Given the description of an element on the screen output the (x, y) to click on. 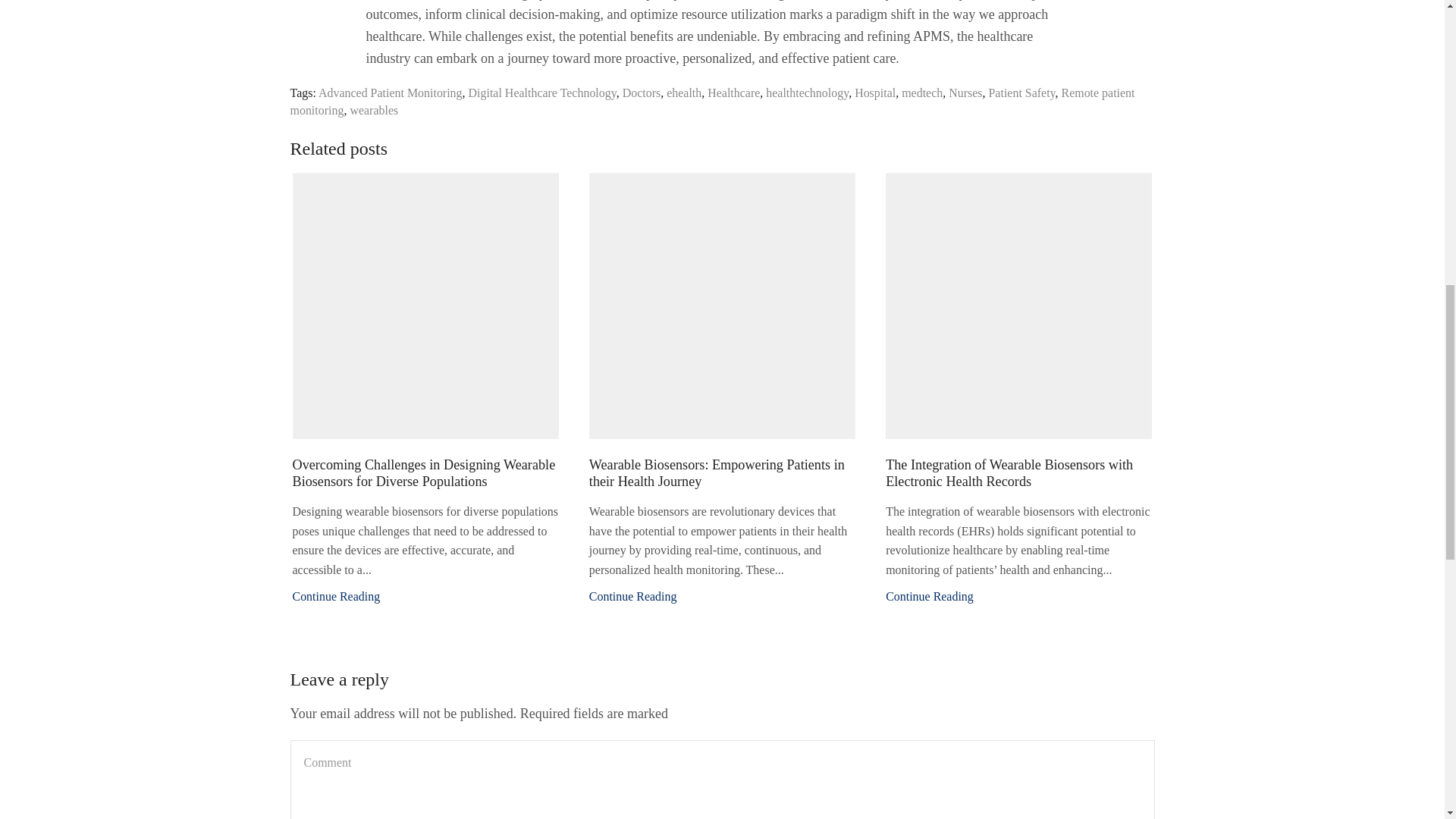
Patient Safety (1021, 92)
Healthcare (733, 92)
wearables (373, 110)
Remote patient monitoring (711, 101)
Doctors (642, 92)
Hospital (874, 92)
ehealth (683, 92)
medtech (921, 92)
healthtechnology (806, 92)
Advanced Patient Monitoring (390, 92)
Nurses (965, 92)
Digital Healthcare Technology (541, 92)
